Given the description of an element on the screen output the (x, y) to click on. 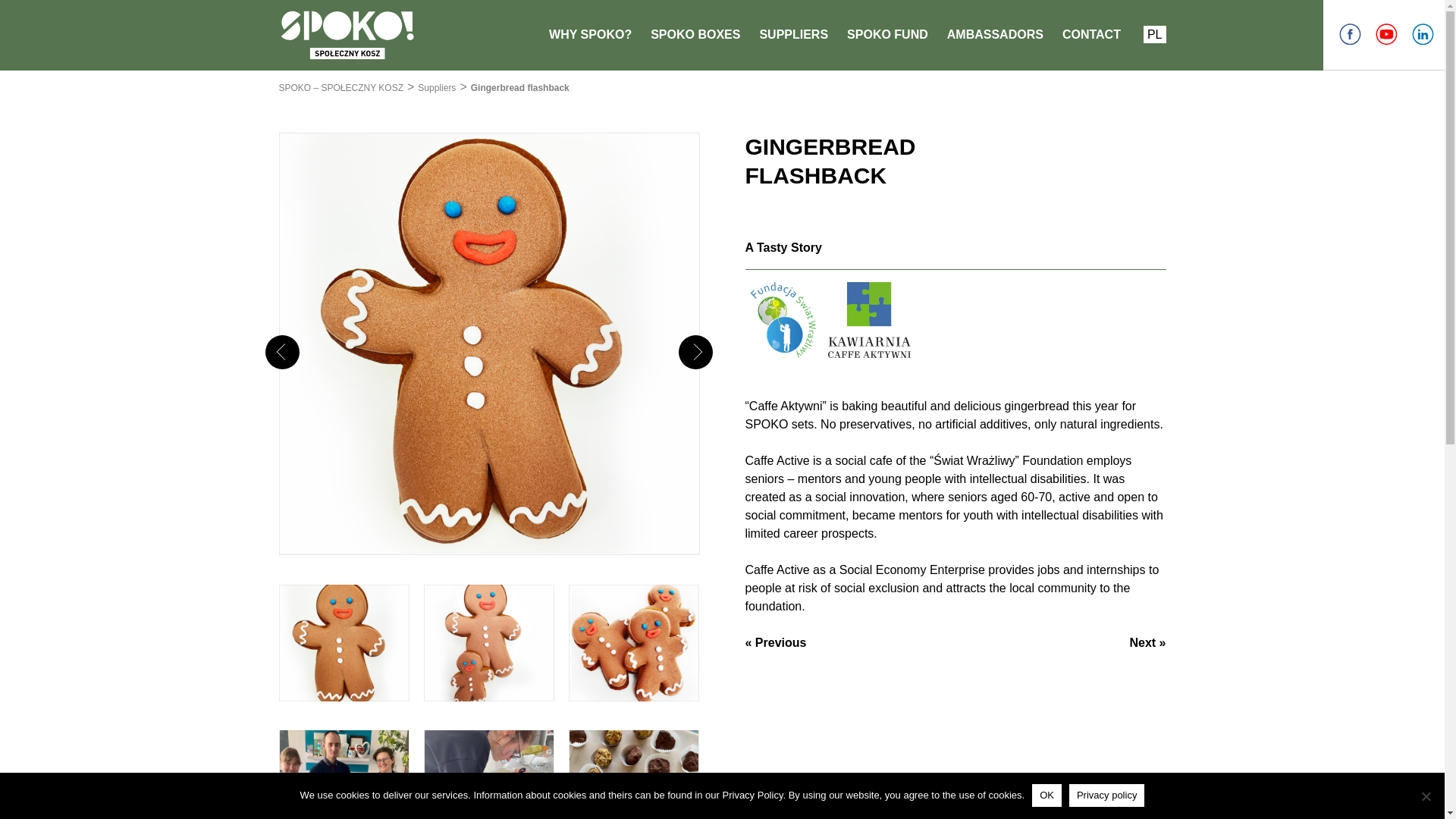
OK (1046, 794)
Suppliers (436, 87)
PL (1154, 34)
AMBASSADORS (995, 33)
SPOKO FUND (887, 33)
WHY SPOKO? (589, 33)
SUPPLIERS (793, 33)
Gingerbread flashback (519, 87)
CONTACT (1091, 33)
Suppliers (436, 87)
Gingerbread flashback (519, 87)
SPOKO BOXES (694, 33)
